Given the description of an element on the screen output the (x, y) to click on. 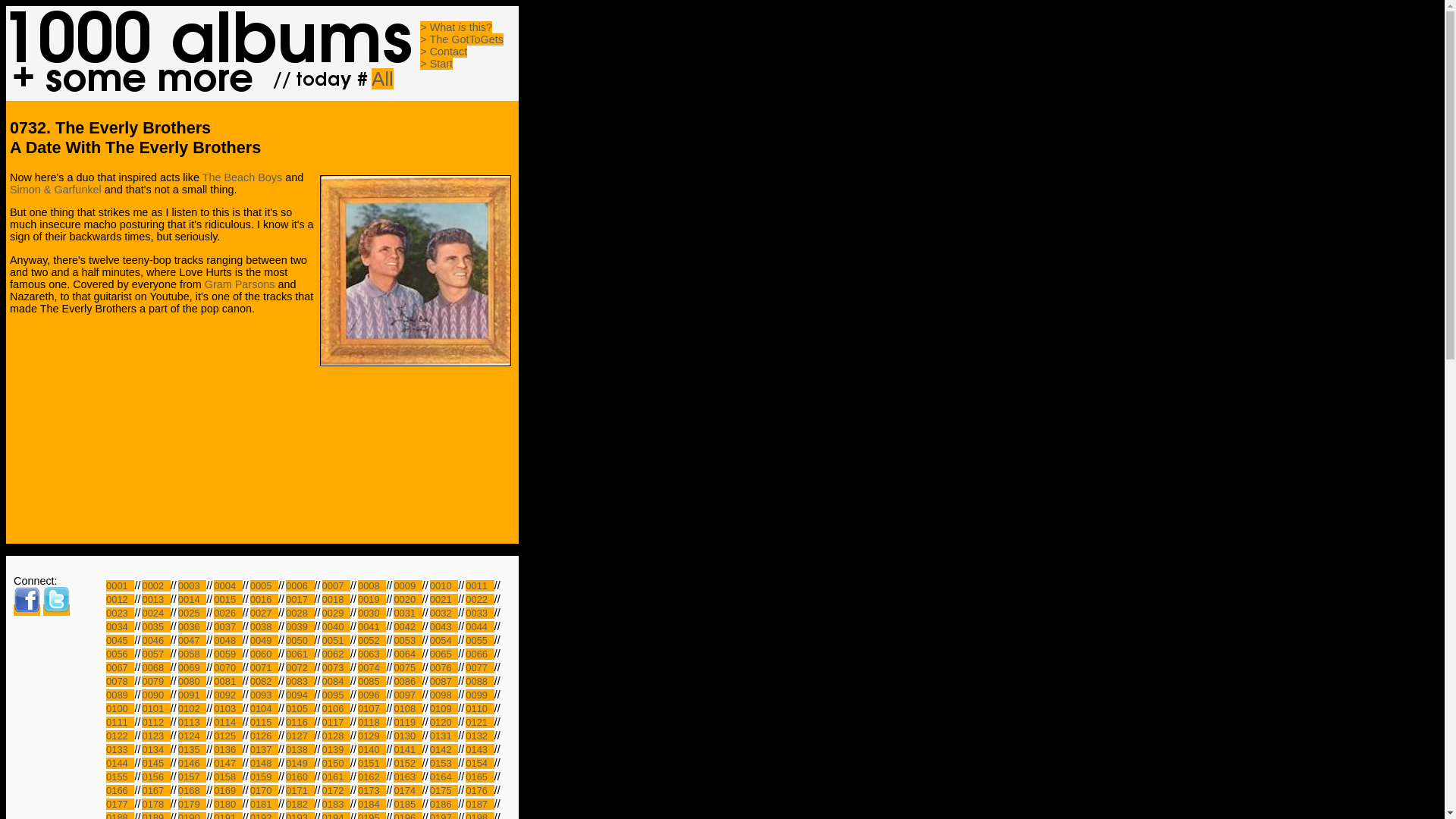
0021 (443, 599)
0005 (264, 585)
0010 (443, 585)
0027 (264, 613)
0013 (155, 599)
0004 (227, 585)
0009 (407, 585)
0016 (264, 599)
All (382, 78)
The Beach Boys (242, 177)
